Given the description of an element on the screen output the (x, y) to click on. 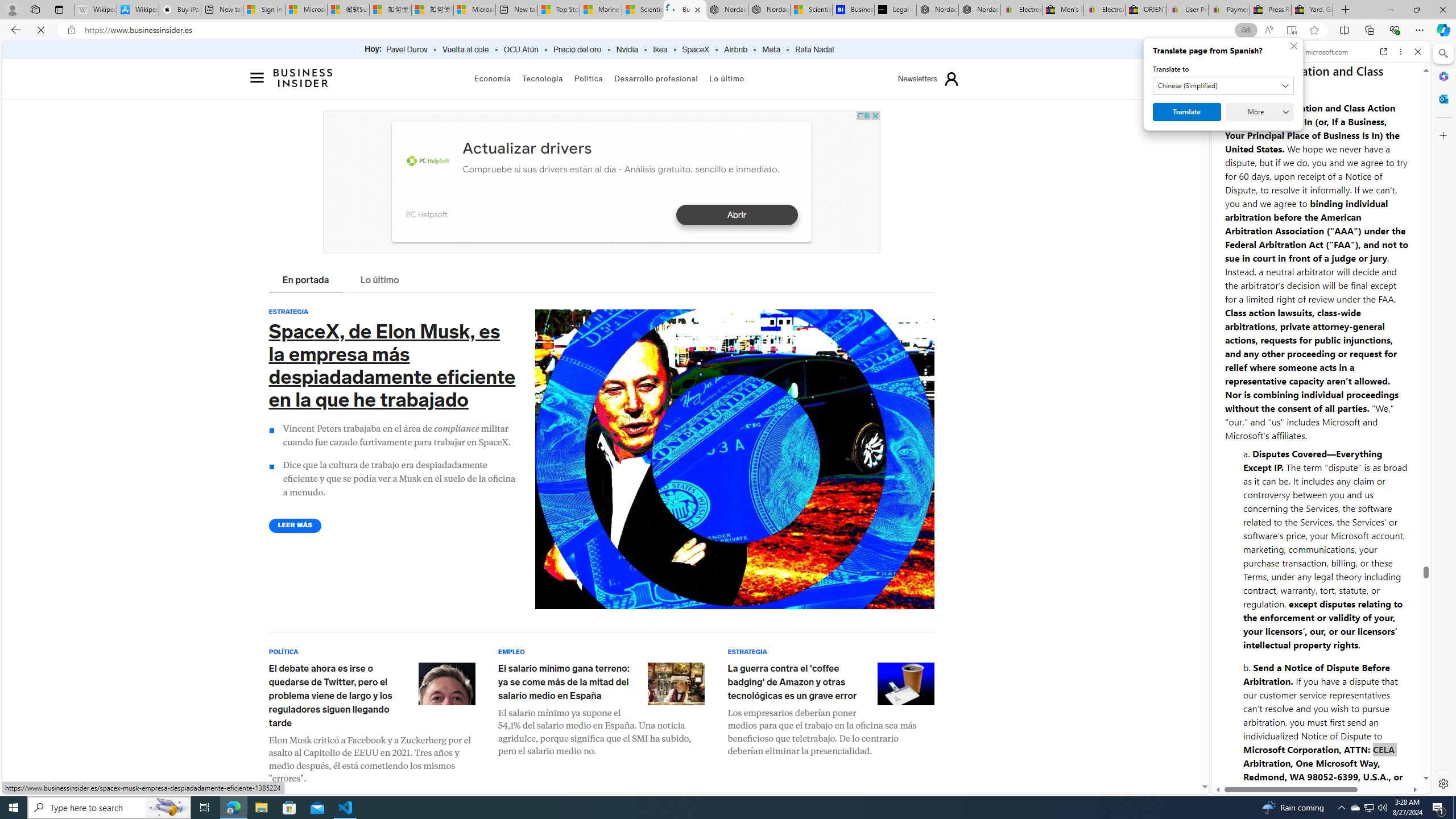
Vuelta al cole (465, 49)
Nvidia (626, 49)
